Given the description of an element on the screen output the (x, y) to click on. 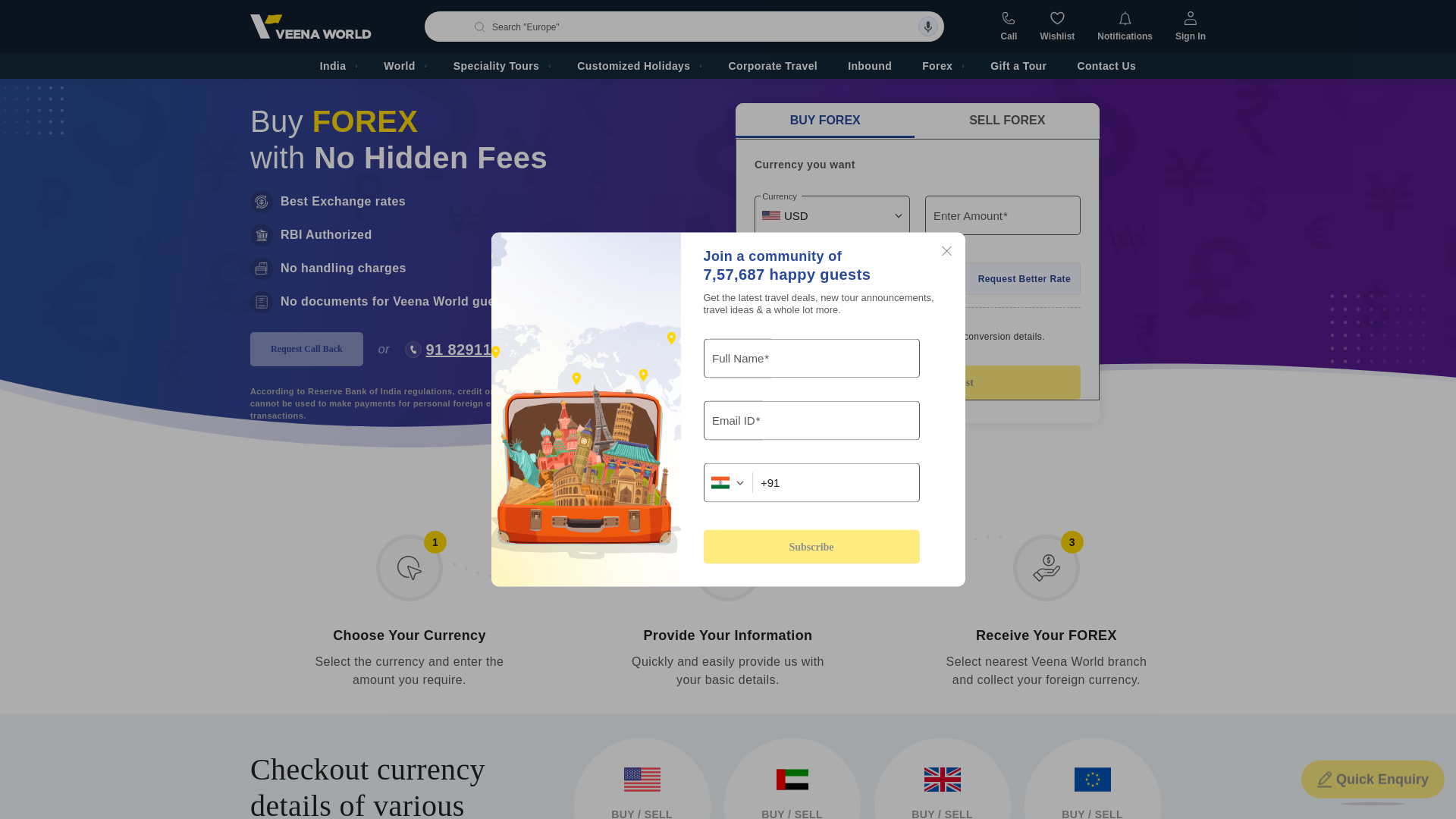
Wishlist (1056, 26)
India (336, 65)
